Given the description of an element on the screen output the (x, y) to click on. 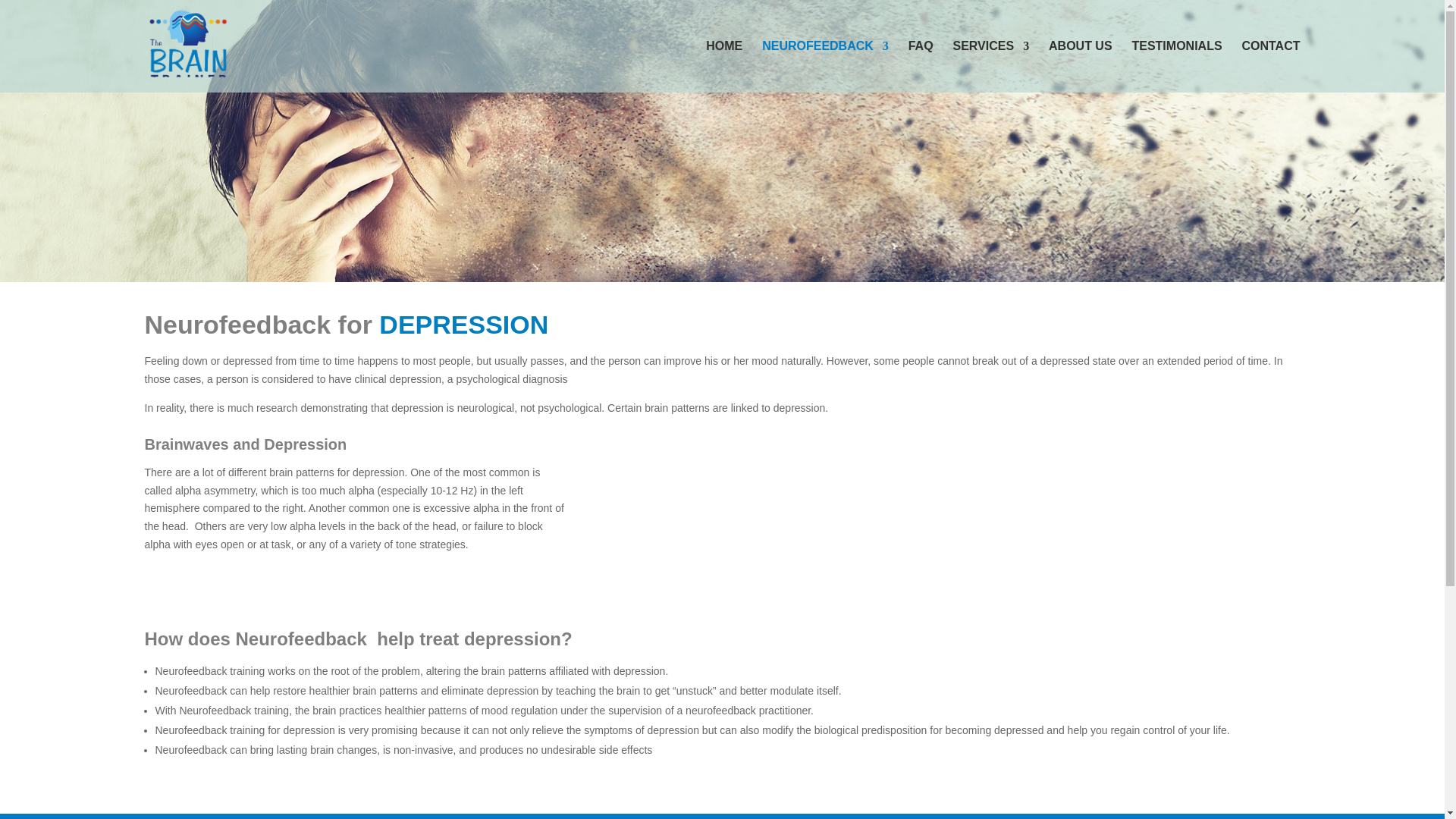
CONTACT (1270, 66)
TESTIMONIALS (1176, 66)
NEUROFEEDBACK (824, 66)
ABOUT US (1080, 66)
SERVICES (990, 66)
